Given the description of an element on the screen output the (x, y) to click on. 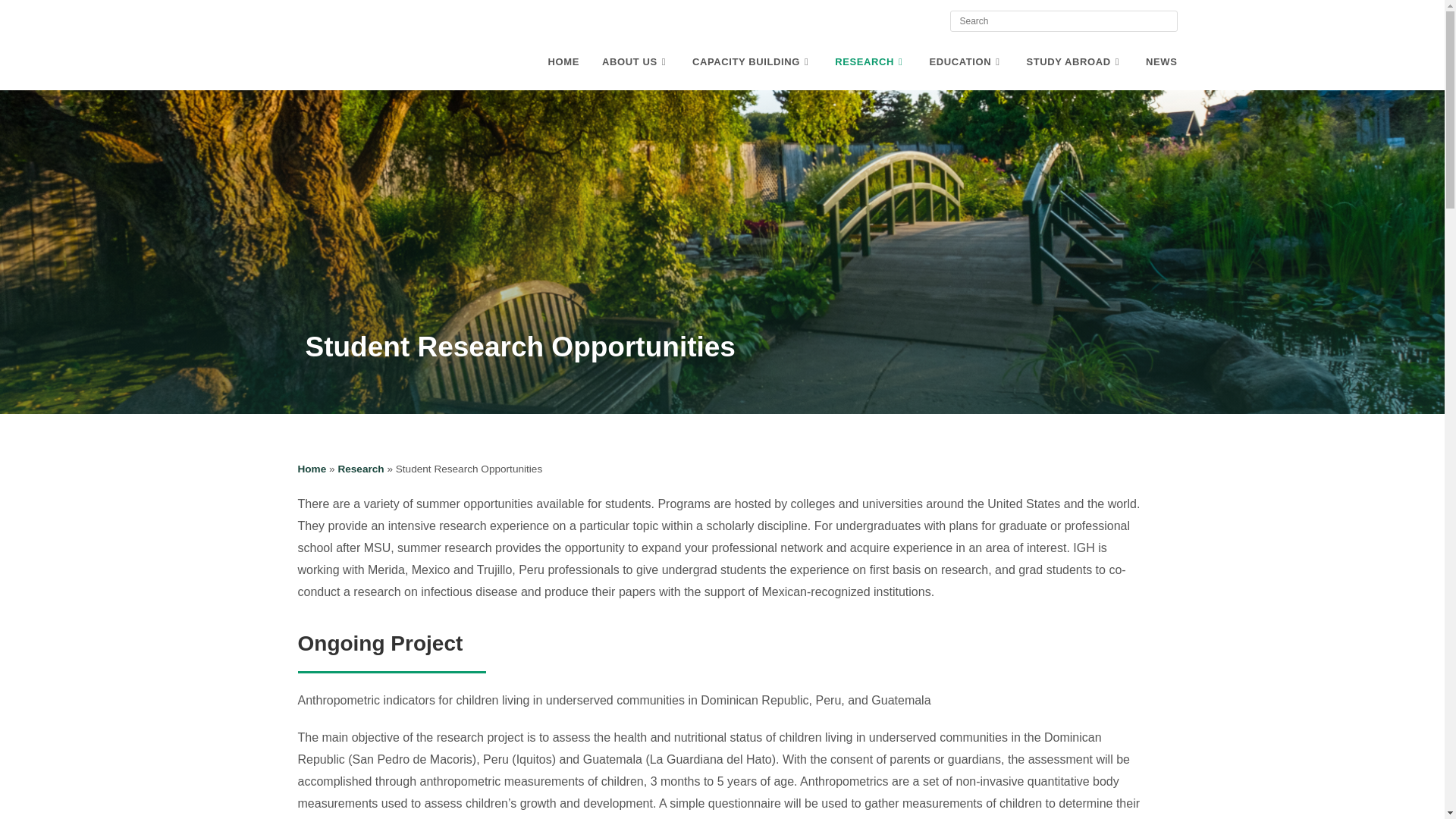
RESEARCH (870, 62)
Michigan State University (379, 27)
STUDY ABROAD (1074, 62)
HOME (564, 62)
Michigan State University (379, 18)
EDUCATION (965, 62)
ABOUT US (636, 62)
CAPACITY BUILDING (752, 62)
